Given the description of an element on the screen output the (x, y) to click on. 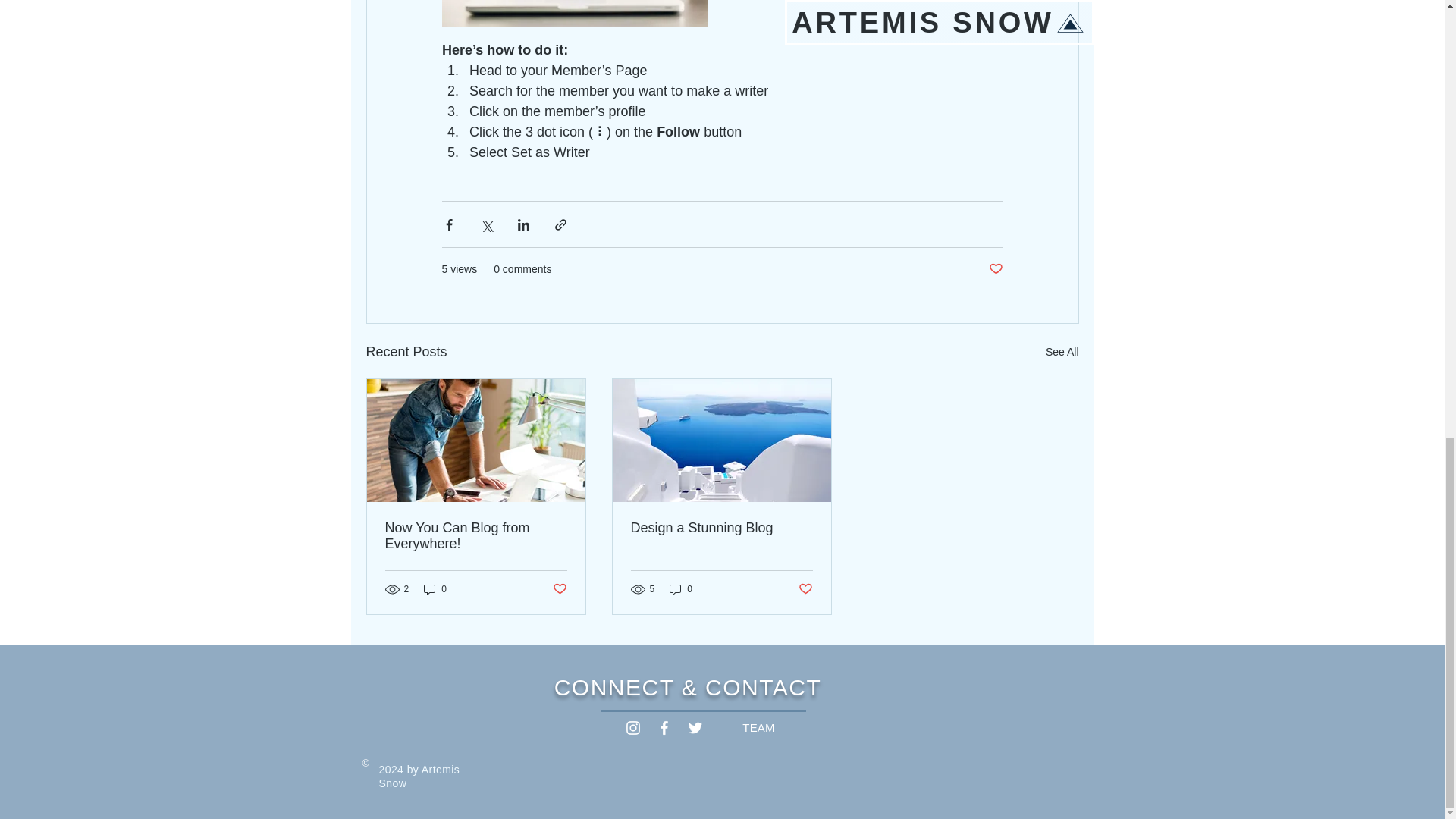
Design a Stunning Blog (721, 528)
Now You Can Blog from Everywhere! (476, 536)
See All (1061, 352)
Post not marked as liked (558, 588)
TEAM (758, 727)
Post not marked as liked (995, 269)
0 (435, 589)
0 (681, 589)
Post not marked as liked (804, 588)
